Given the description of an element on the screen output the (x, y) to click on. 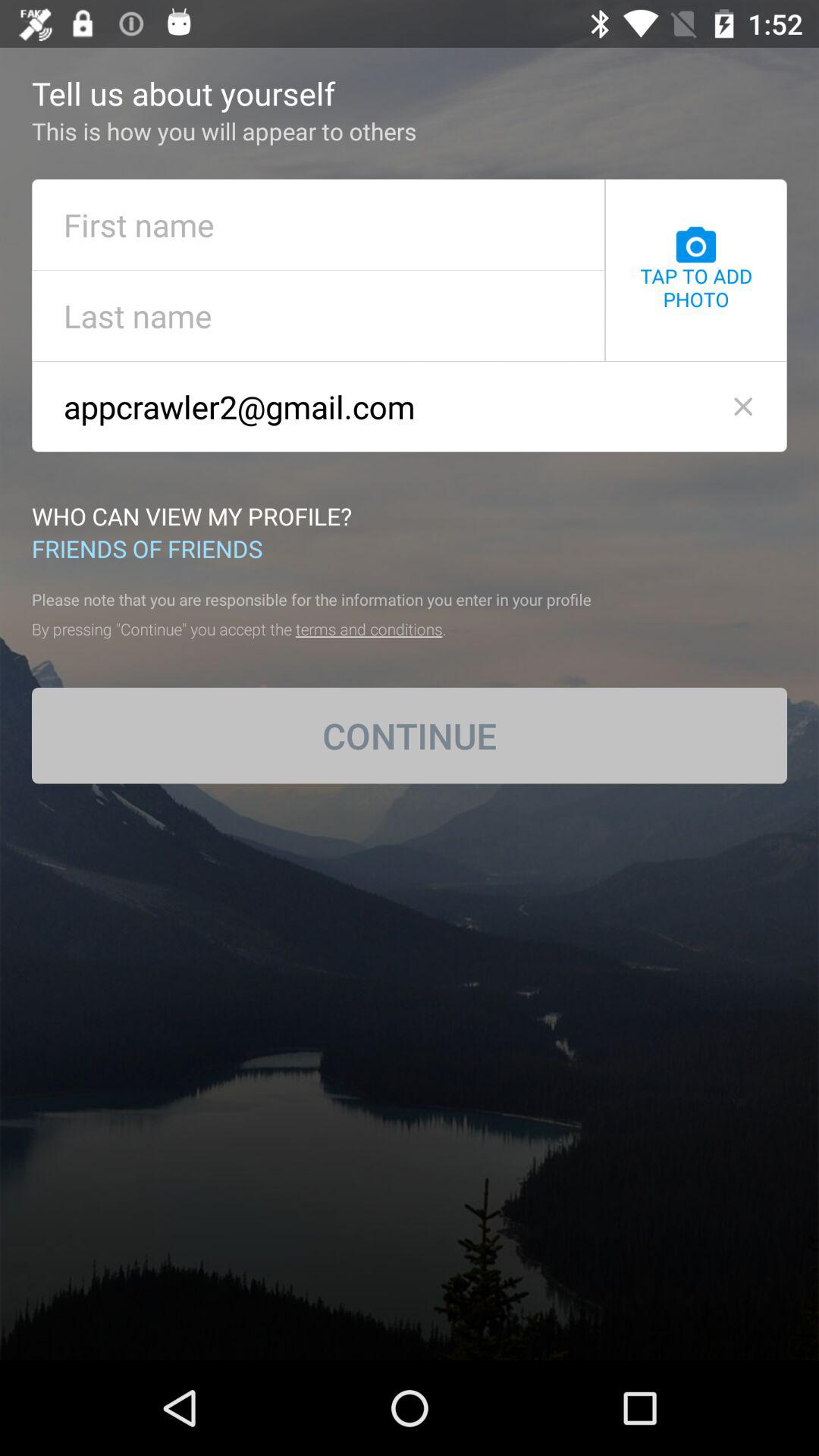
enter last name (318, 315)
